Given the description of an element on the screen output the (x, y) to click on. 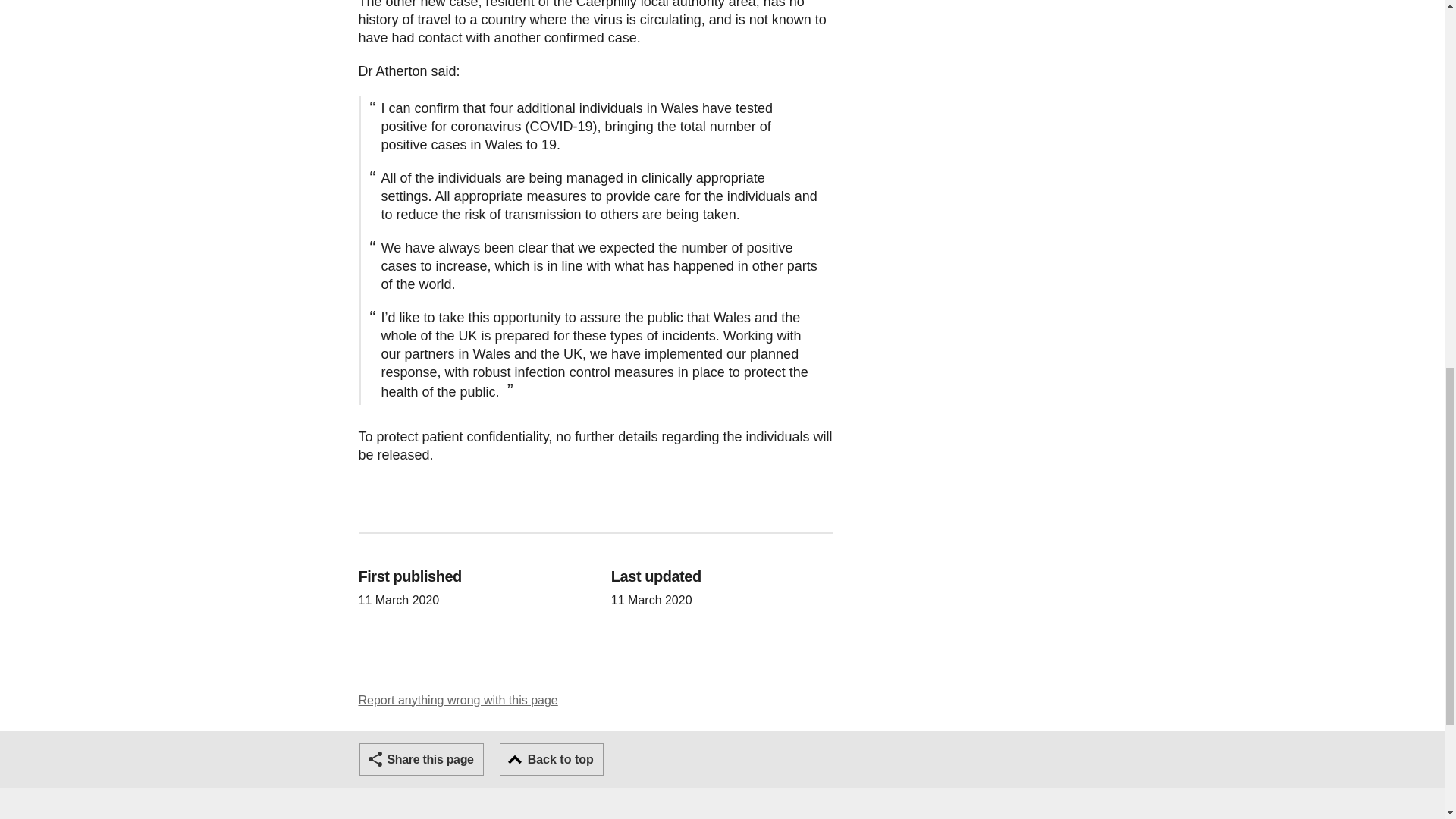
Report anything wrong with this page (457, 699)
Share this page (421, 758)
Back to top (551, 758)
